Given the description of an element on the screen output the (x, y) to click on. 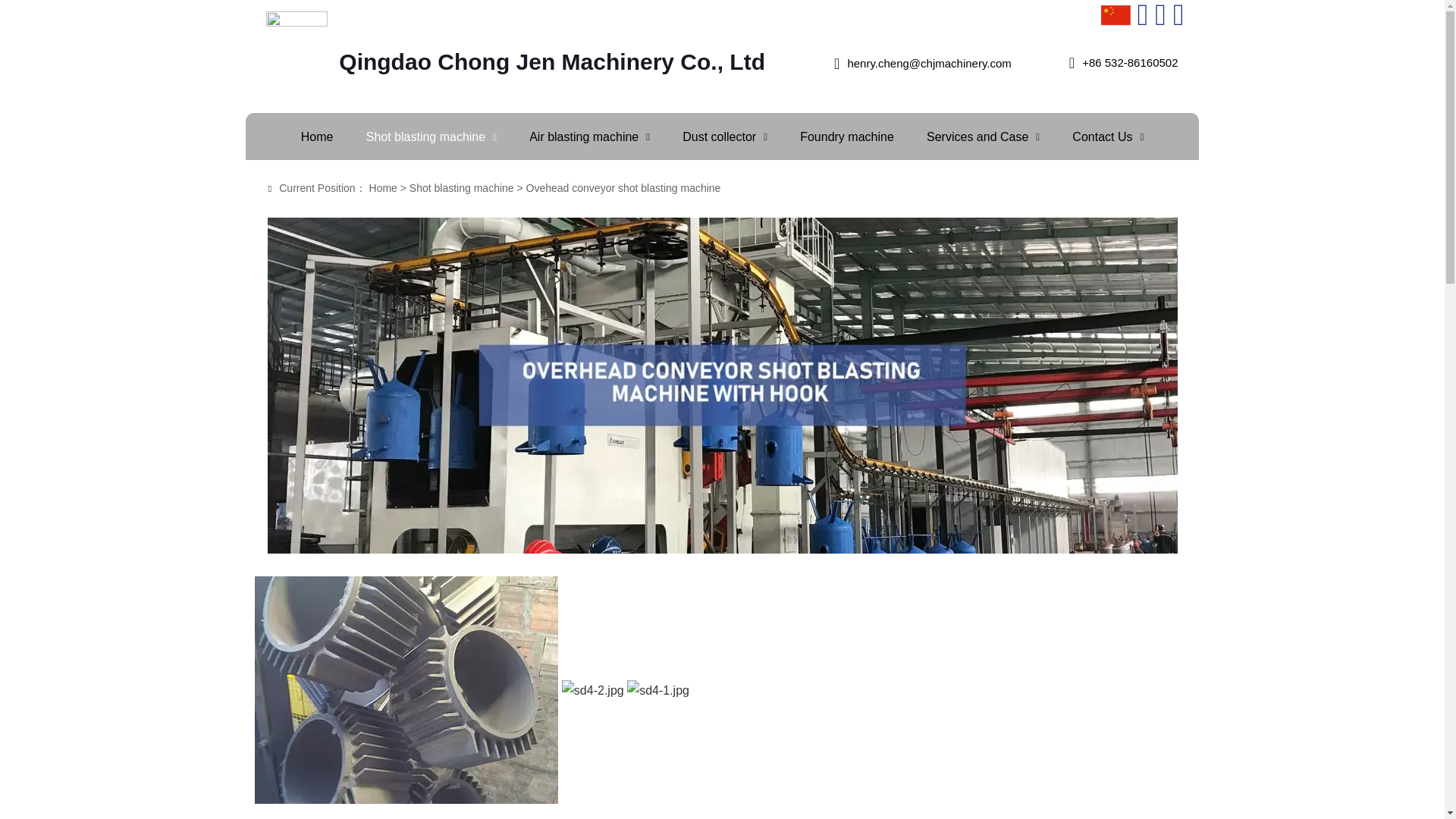
sd4-2.jpg (593, 690)
Home (317, 136)
Foundry machine (847, 136)
sd4-3.jpg (405, 689)
sd4-1.jpg (657, 690)
